Given the description of an element on the screen output the (x, y) to click on. 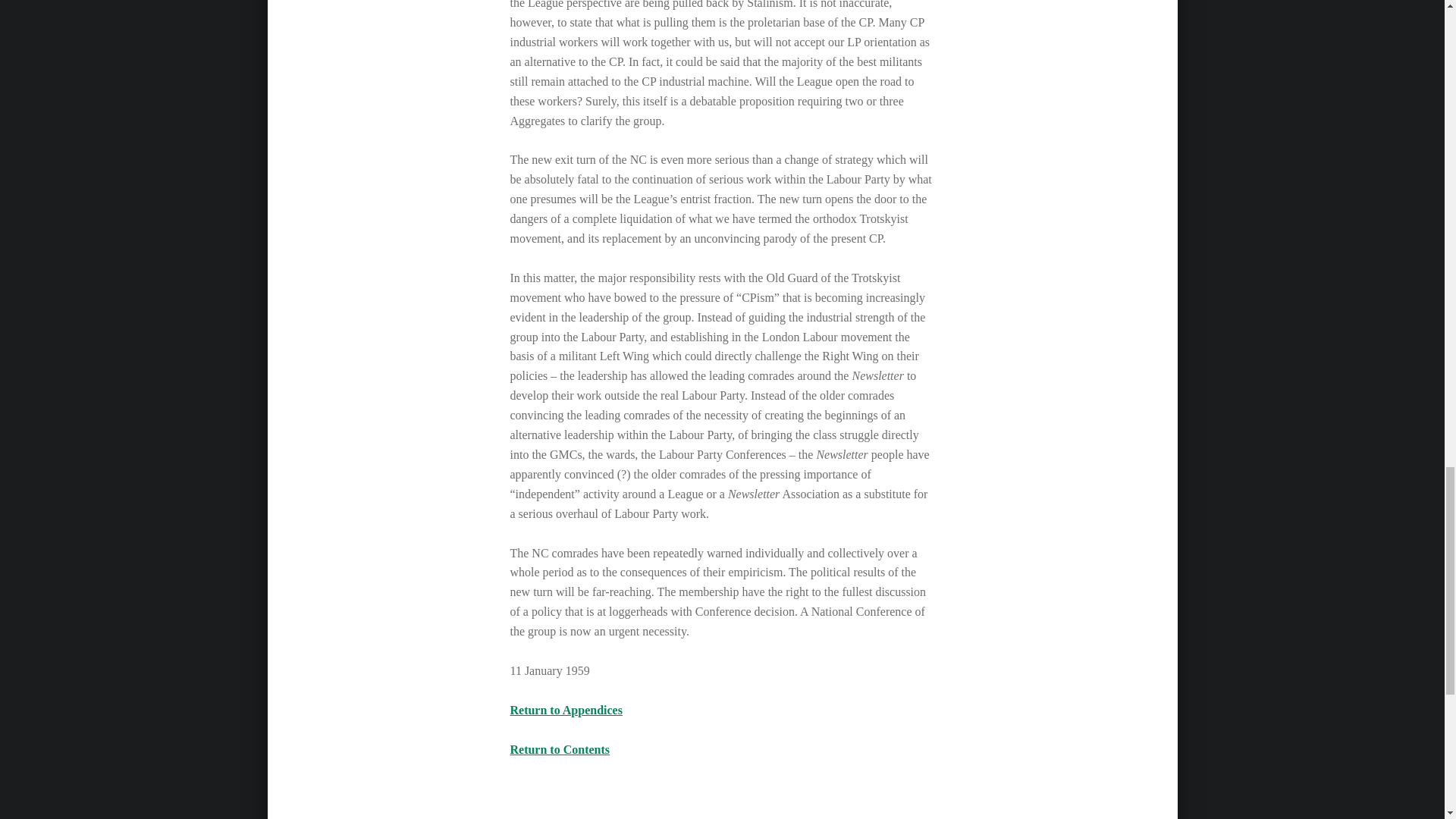
Return to Contents (559, 748)
Return to Appendices (565, 709)
